Given the description of an element on the screen output the (x, y) to click on. 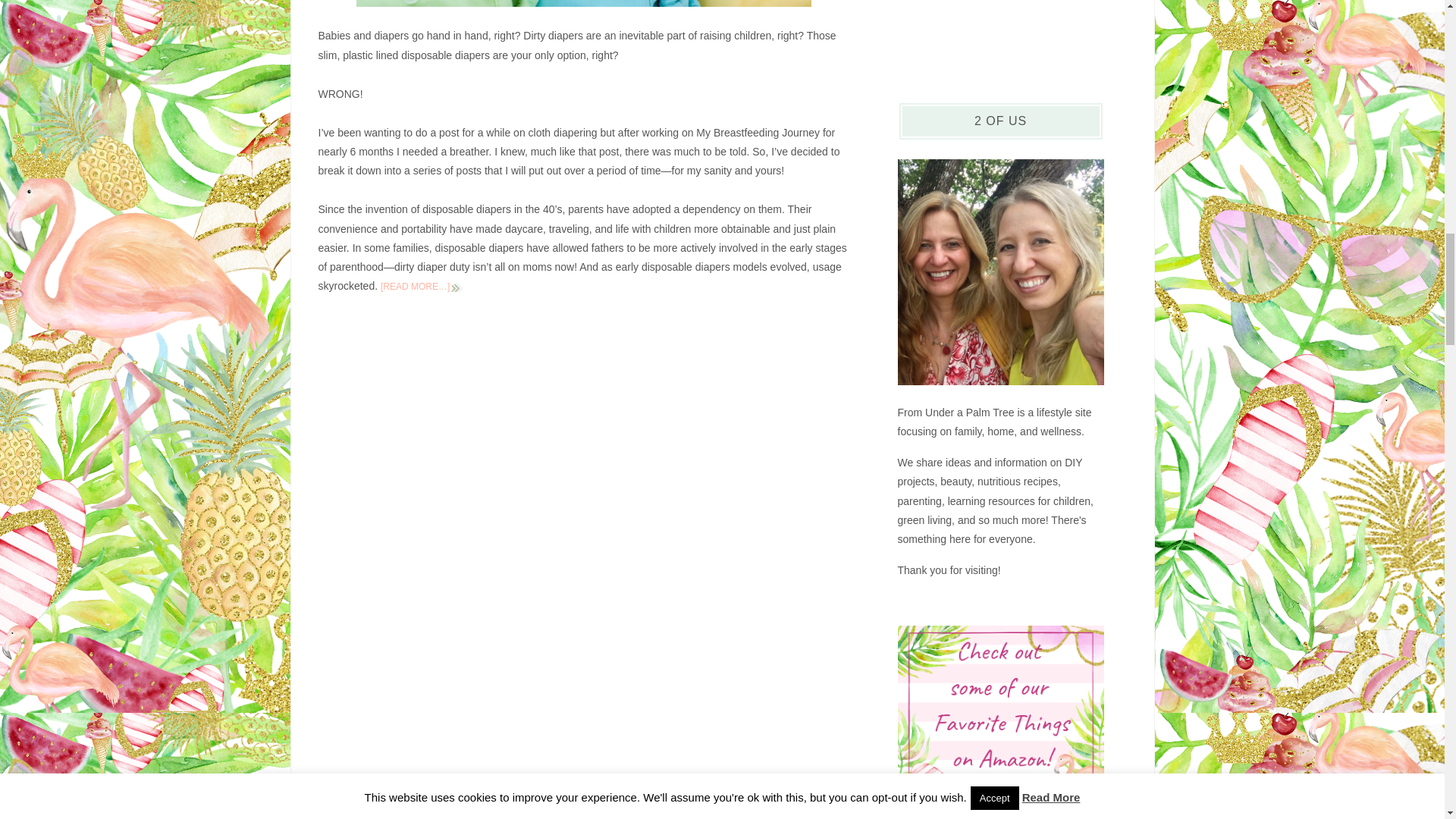
Advertisement (1000, 32)
